Given the description of an element on the screen output the (x, y) to click on. 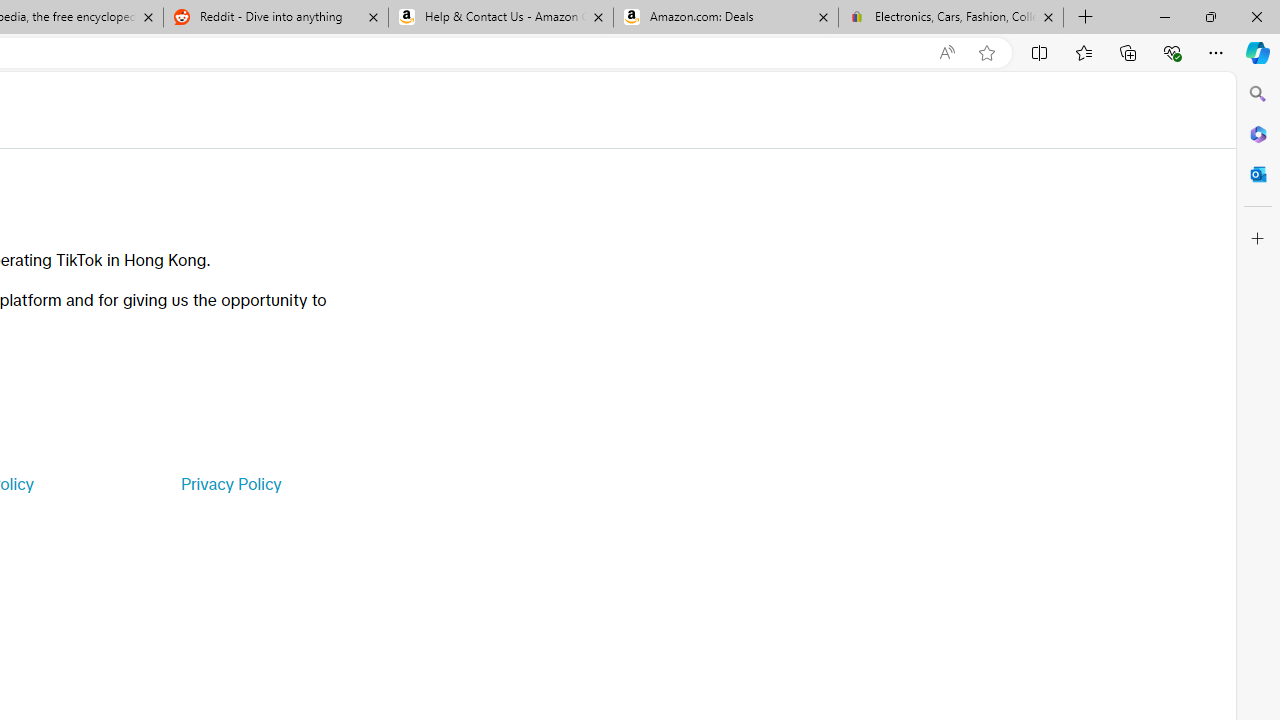
Amazon.com: Deals (726, 17)
Privacy Policy (230, 484)
